Given the description of an element on the screen output the (x, y) to click on. 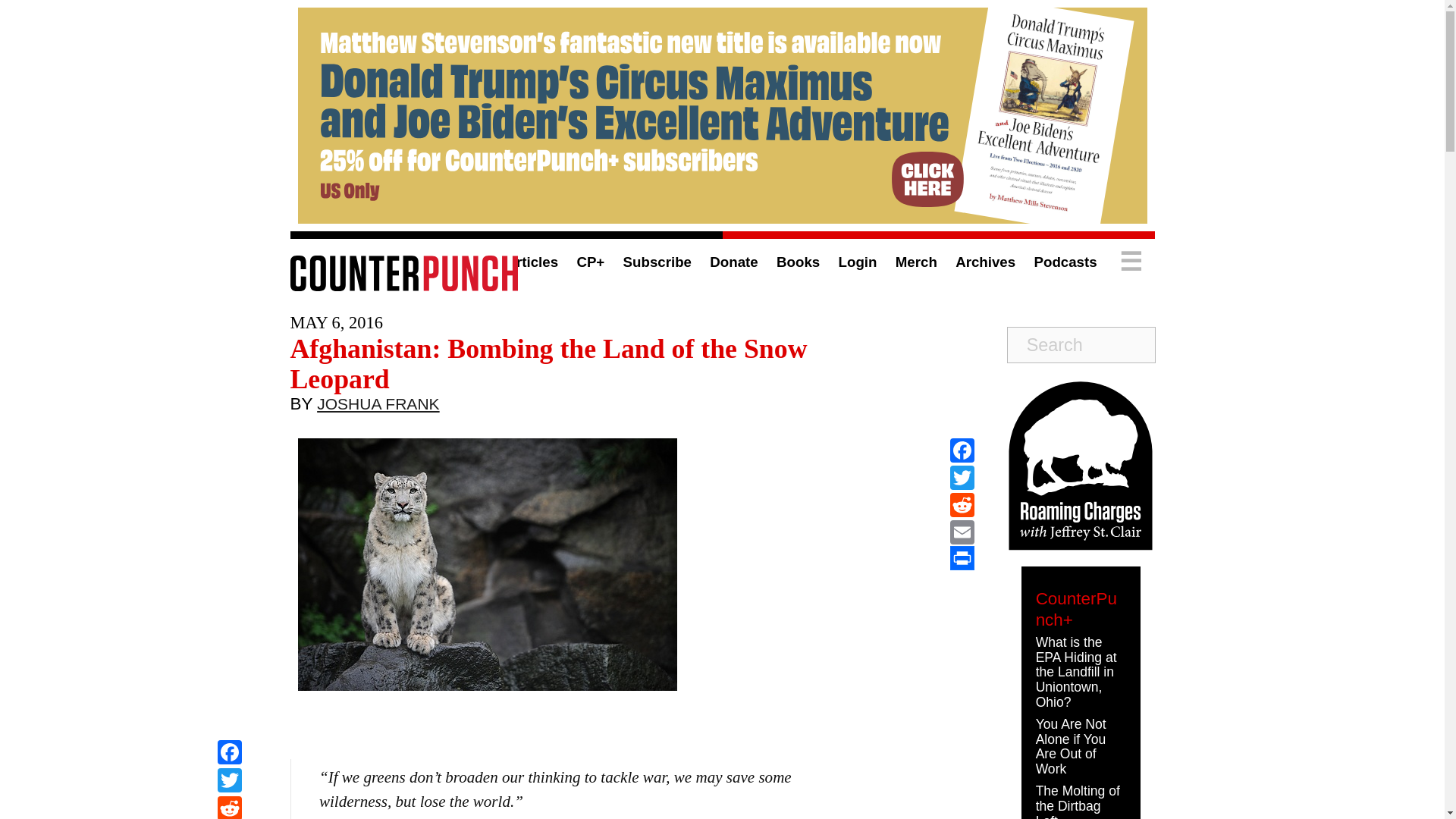
The Molting of the Dirtbag Left (1077, 800)
Subscribe (657, 261)
What is the EPA Hiding at the Landfill in Uniontown, Ohio? (1075, 672)
Email (962, 532)
Twitter (229, 782)
Facebook (962, 450)
Twitter (962, 477)
Archives (984, 261)
JOSHUA FRANK (378, 407)
Login (857, 261)
Twitter (229, 782)
Merch (916, 261)
You Are Not Alone if You Are Out of Work (1070, 746)
Print This Post (962, 558)
Articles (531, 261)
